Given the description of an element on the screen output the (x, y) to click on. 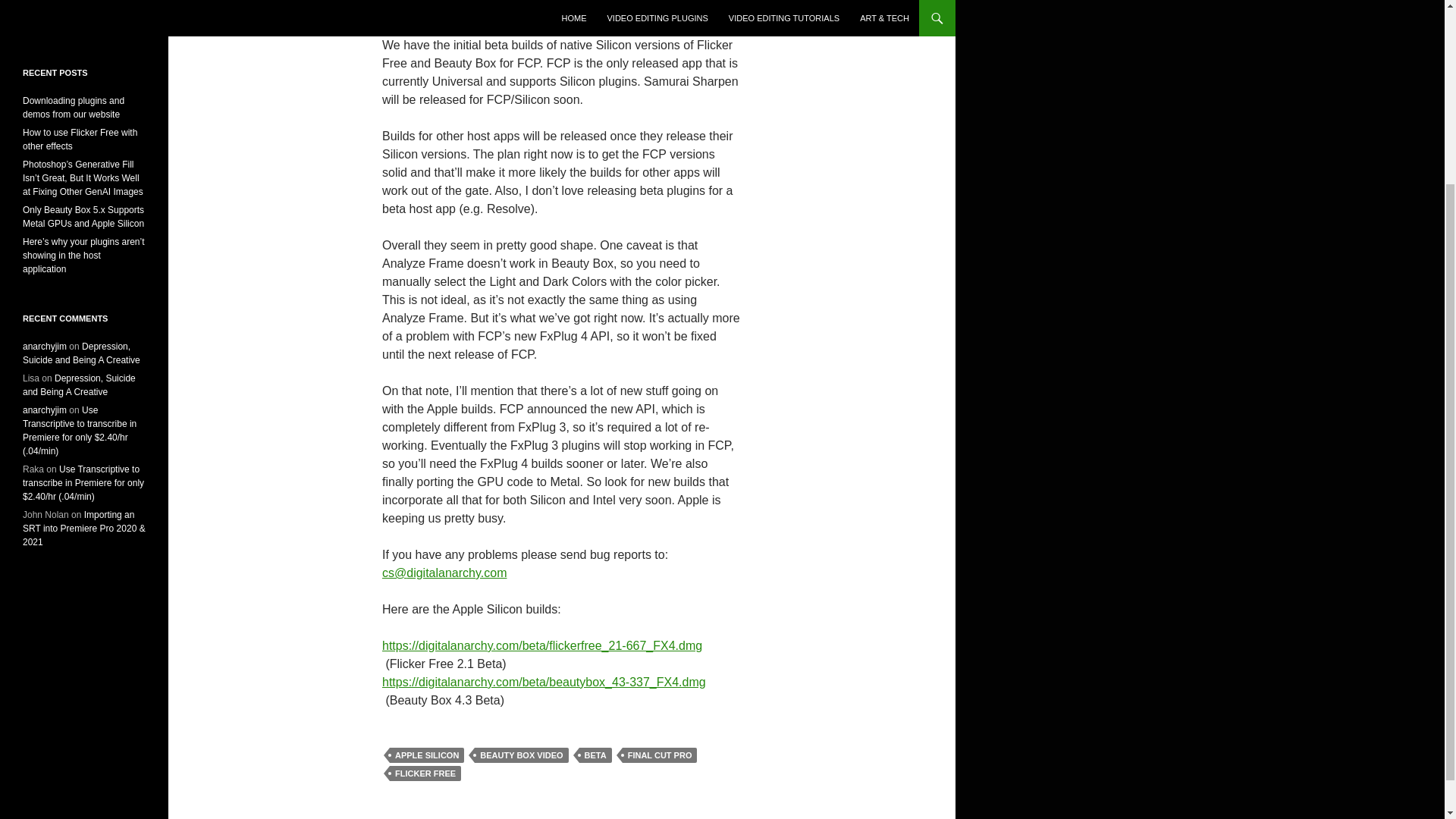
Depression, Suicide and Being A Creative (81, 353)
FLICKER FREE (425, 773)
ANARCHYJIM (530, 5)
anarchyjim (44, 409)
Depression, Suicide and Being A Creative (79, 385)
DECEMBER 12, 2020 (432, 5)
anarchyjim (44, 346)
BEAUTY BOX VIDEO (520, 754)
LEAVE A COMMENT (625, 5)
How to use Flicker Free with other effects (79, 139)
FINAL CUT PRO (660, 754)
APPLE SILICON (427, 754)
Downloading plugins and demos from our website (73, 107)
BETA (595, 754)
Only Beauty Box 5.x Supports Metal GPUs and Apple Silicon (83, 216)
